Given the description of an element on the screen output the (x, y) to click on. 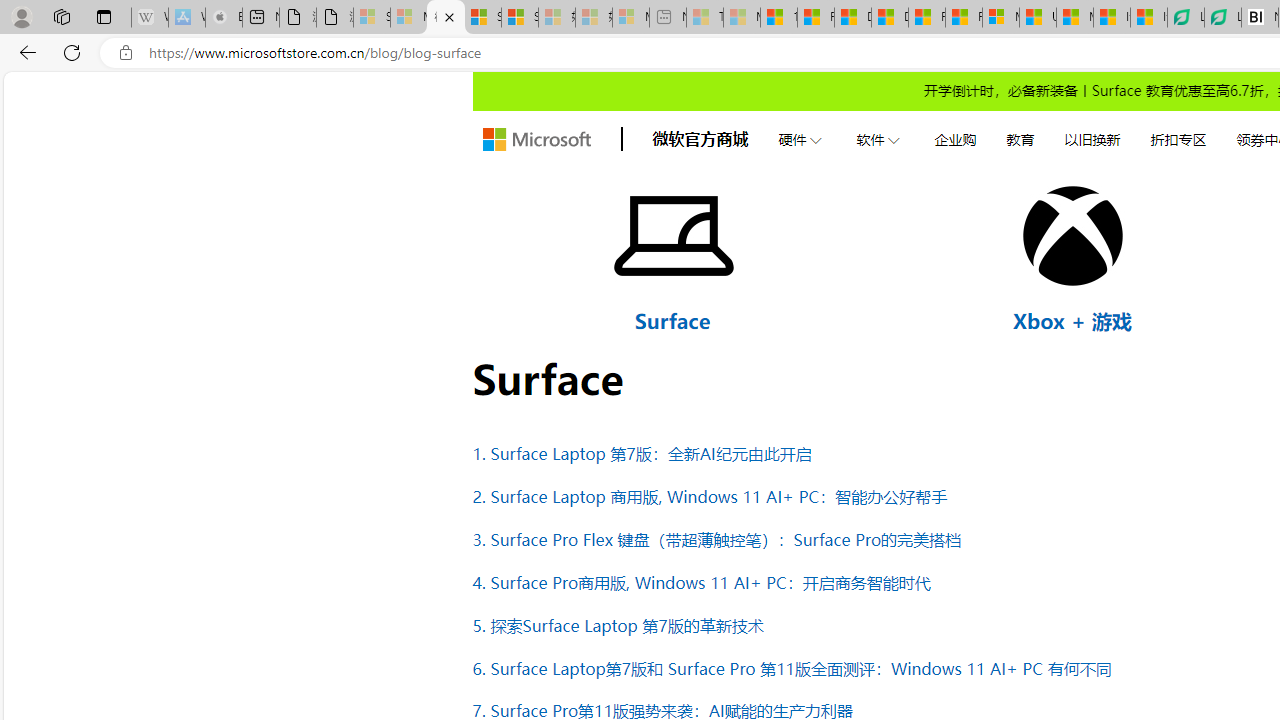
Food and Drink - MSN (815, 17)
Buy iPad - Apple - Sleeping (223, 17)
Marine life - MSN - Sleeping (742, 17)
Drinking tea every day is proven to delay biological aging (889, 17)
US Heat Deaths Soared To Record High Last Year (1037, 17)
Wikipedia - Sleeping (149, 17)
Microsoft Services Agreement - Sleeping (408, 17)
